Given the description of an element on the screen output the (x, y) to click on. 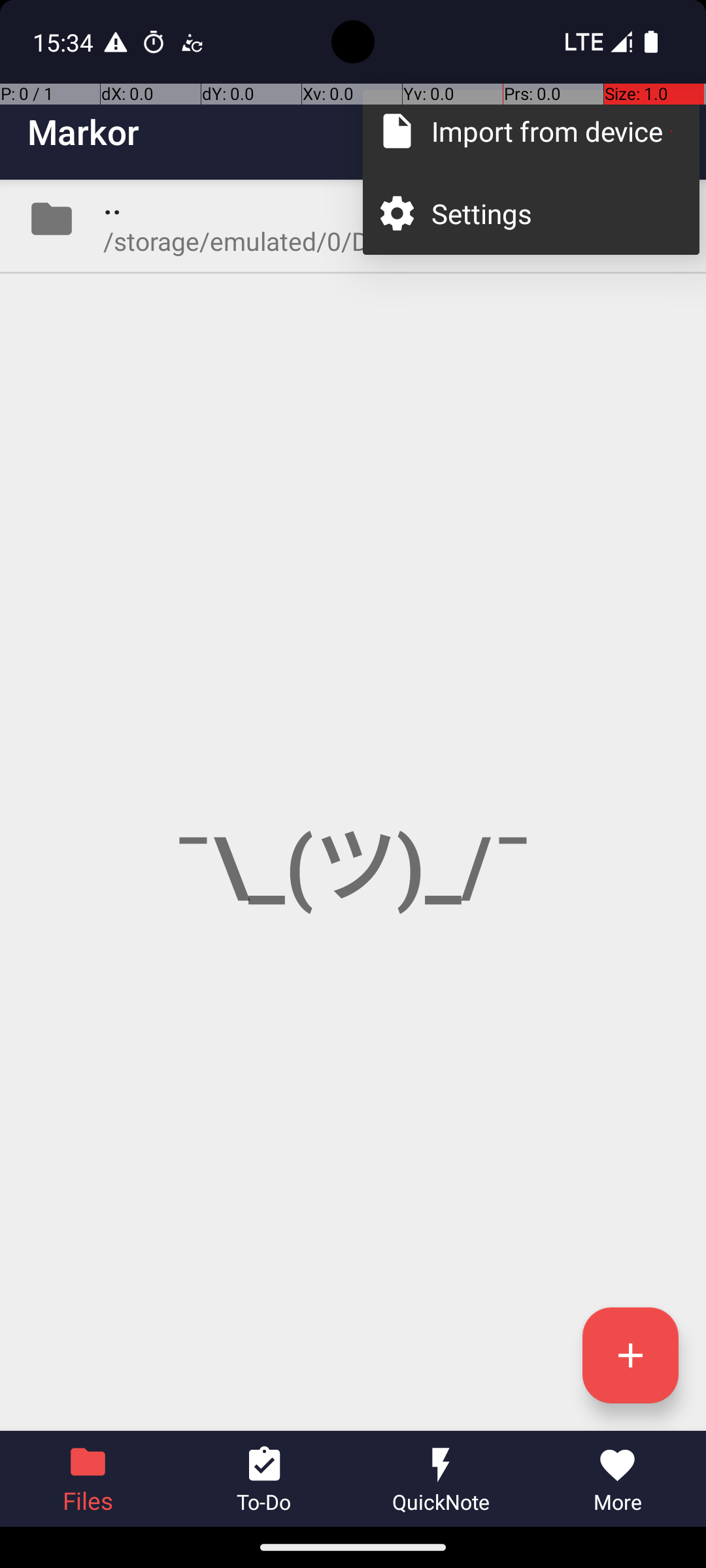
Import from device Element type: android.widget.TextView (551, 130)
VLC notification: Scanning for media files Element type: android.widget.ImageView (191, 41)
